Given the description of an element on the screen output the (x, y) to click on. 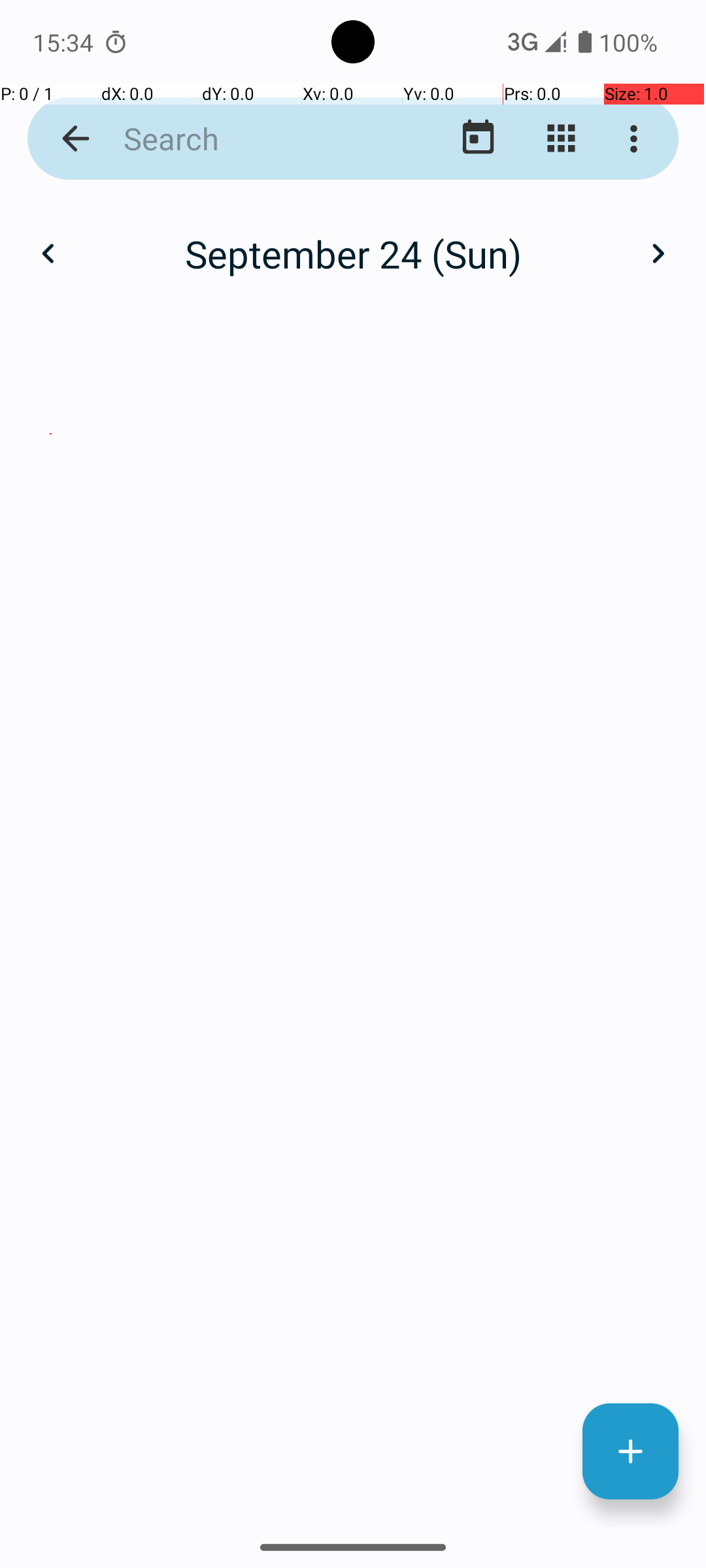
September 24 (Sun) Element type: android.widget.TextView (352, 253)
